Given the description of an element on the screen output the (x, y) to click on. 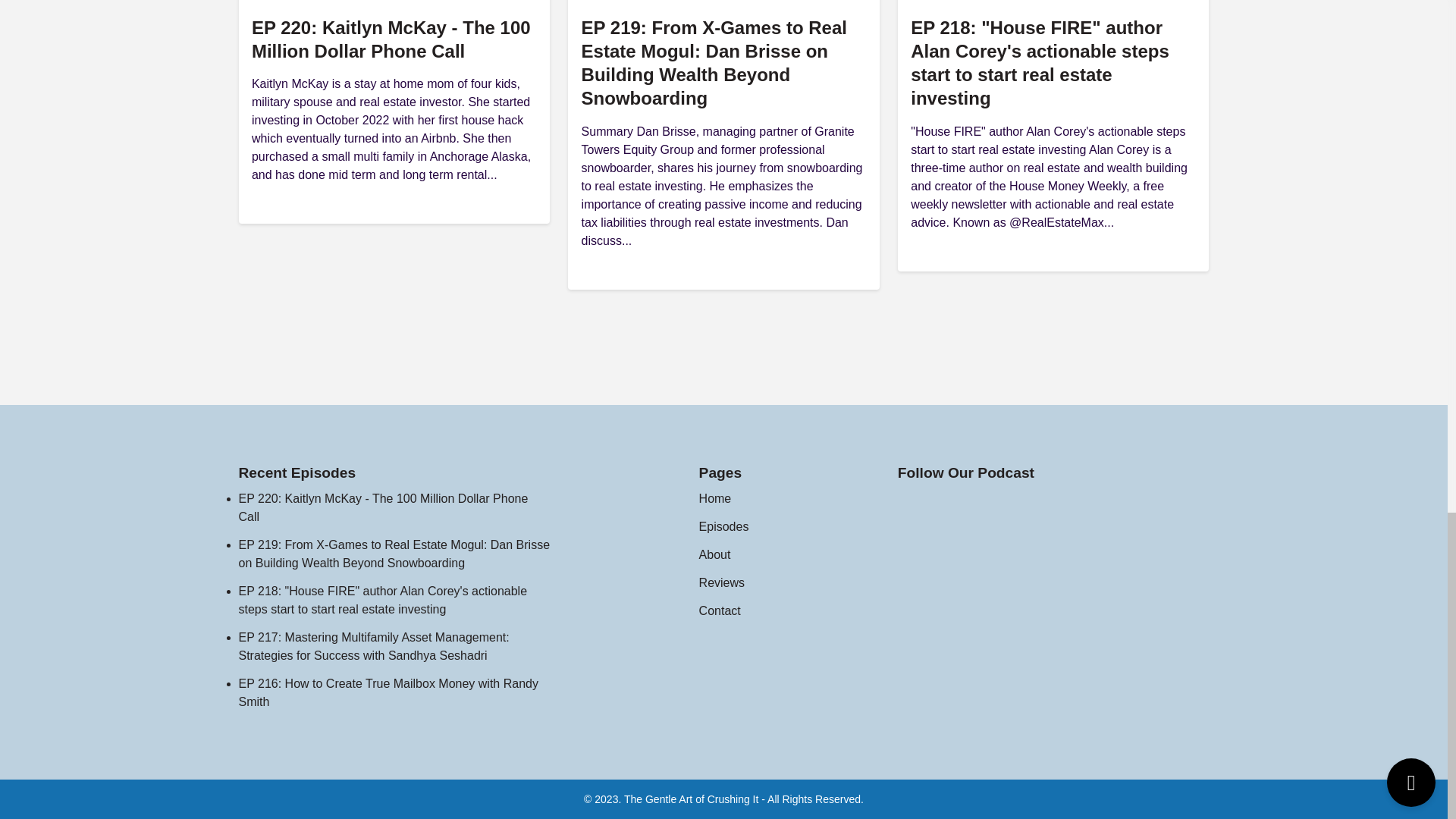
EP 220: Kaitlyn McKay - The 100 Million Dollar Phone Call (391, 39)
